Given the description of an element on the screen output the (x, y) to click on. 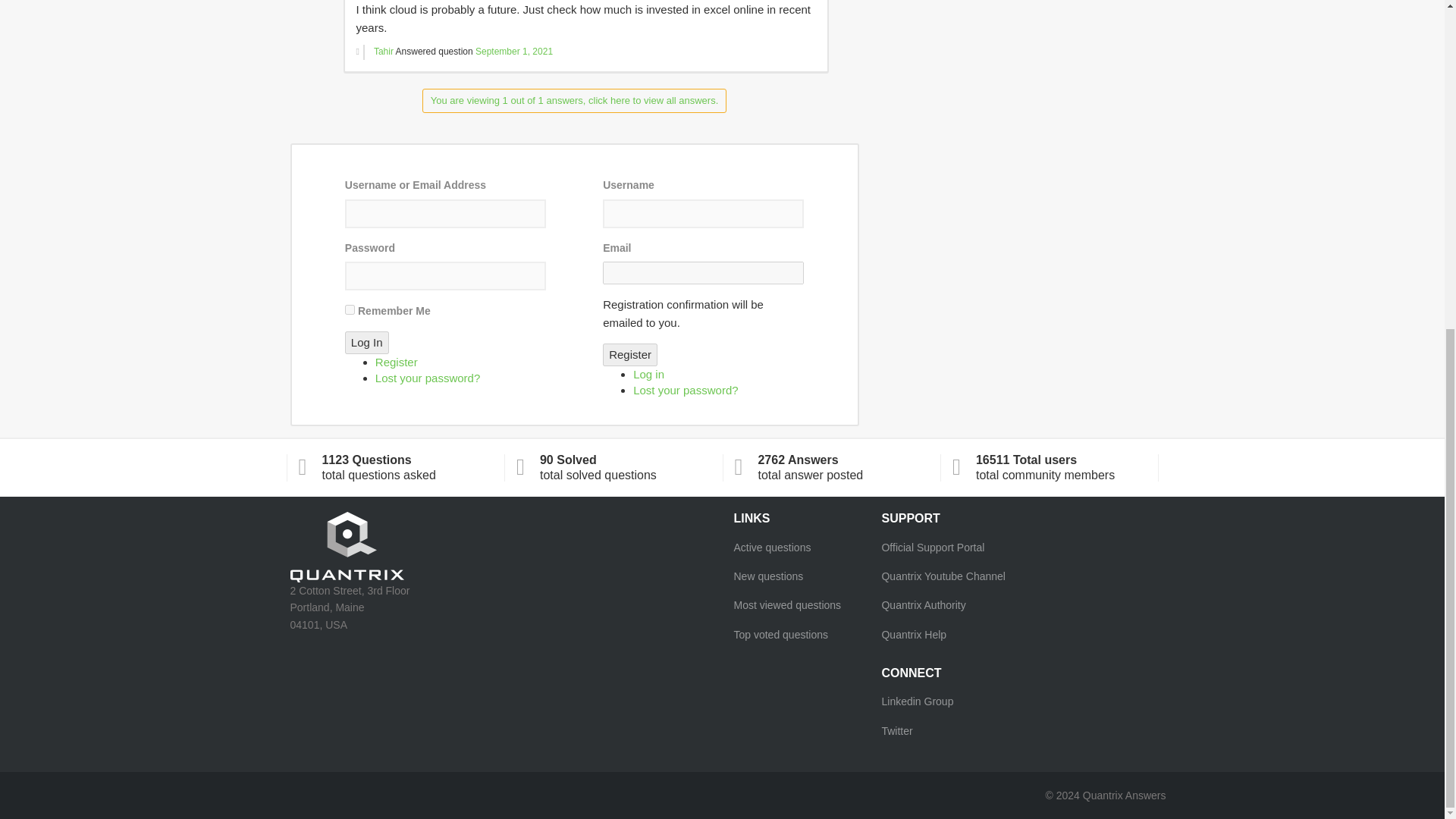
forever (350, 309)
